Given the description of an element on the screen output the (x, y) to click on. 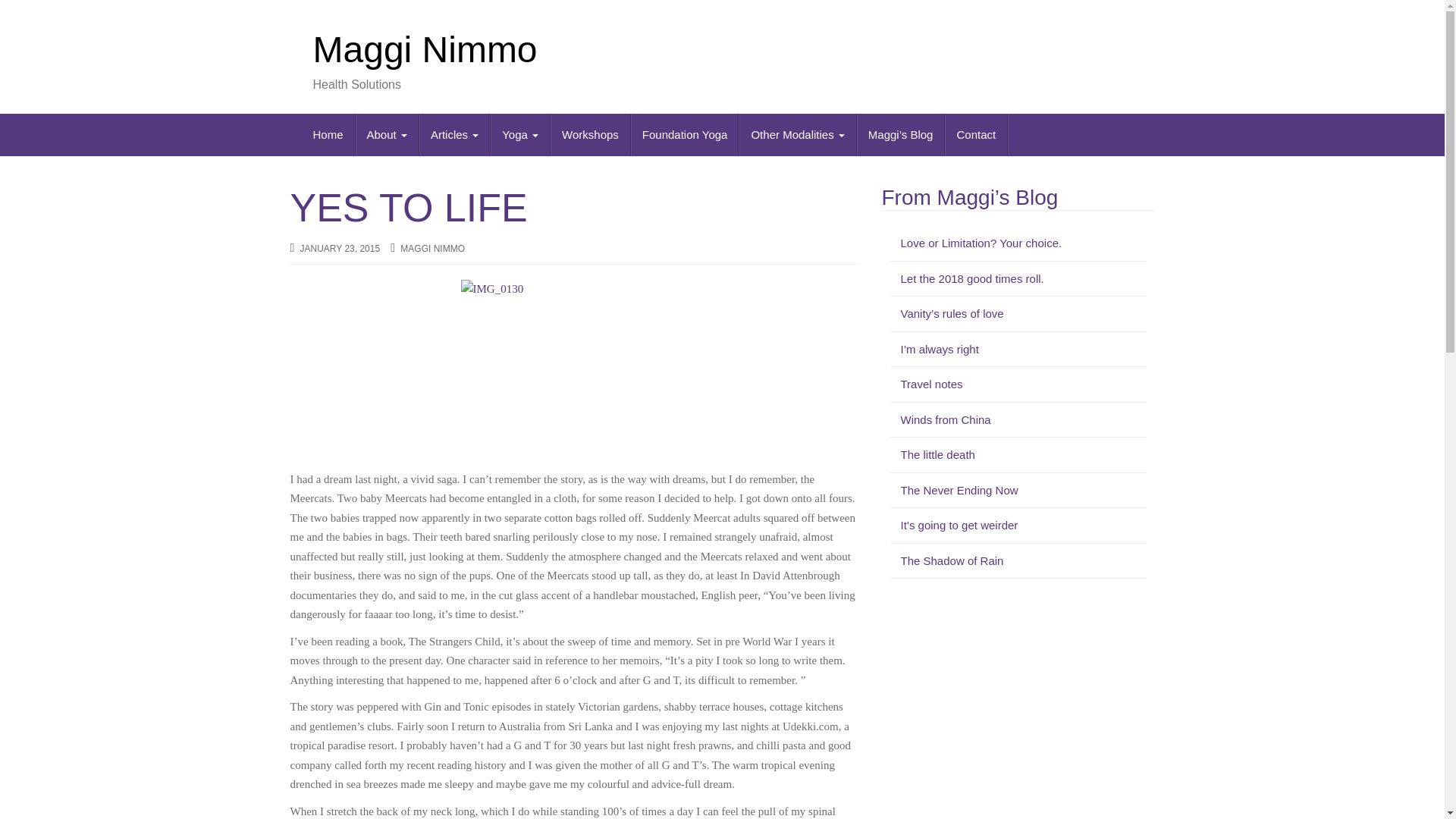
Contact (975, 134)
Workshops (590, 134)
Home (328, 134)
Articles (454, 134)
About (387, 134)
JANUARY 23, 2015 (339, 248)
Home (328, 134)
About (387, 134)
MAGGI NIMMO (432, 248)
Other Modalities (797, 134)
